Given the description of an element on the screen output the (x, y) to click on. 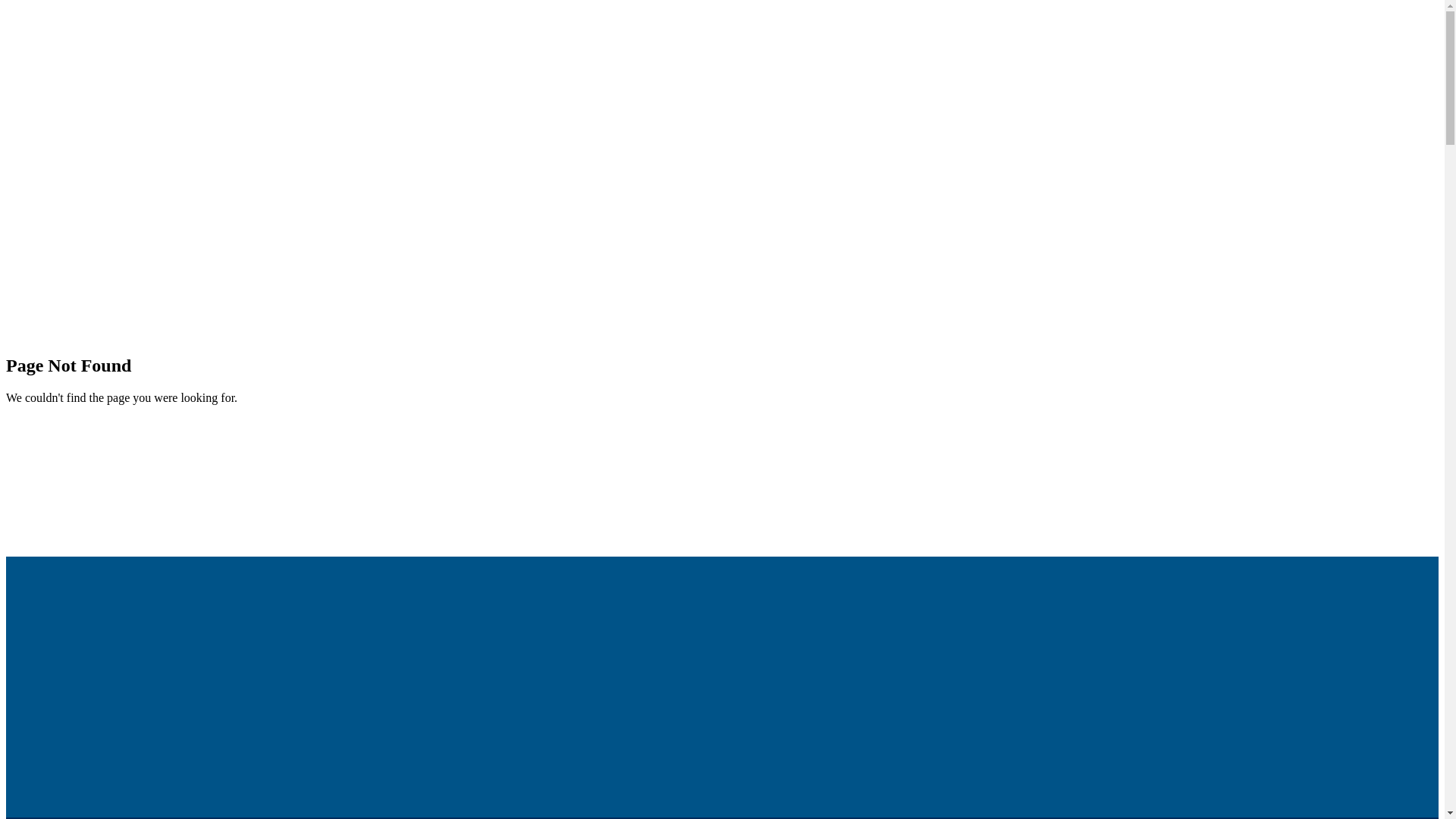
2 Erina Road Element type: hover (722, 719)
